Given the description of an element on the screen output the (x, y) to click on. 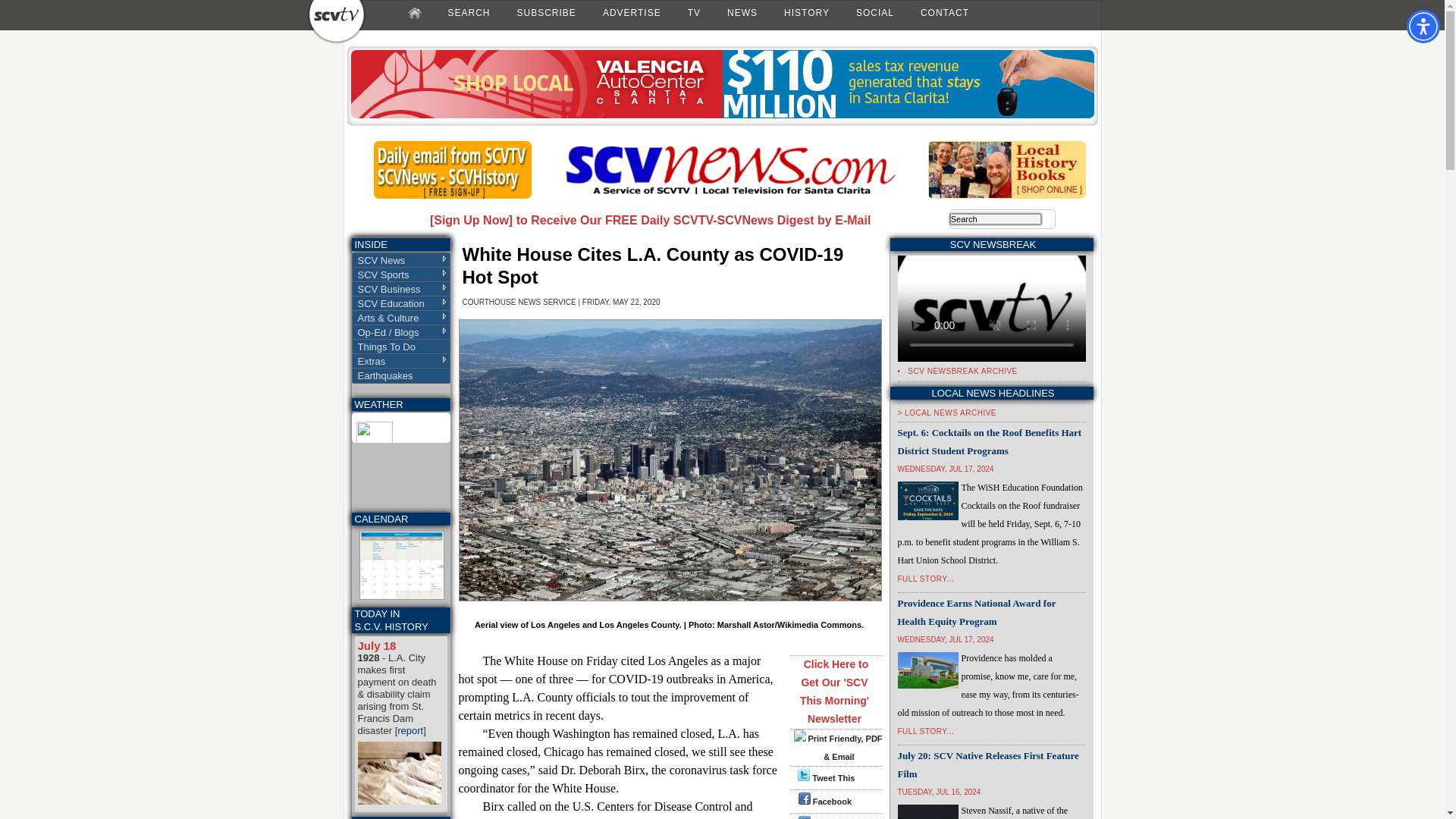
NEWS (742, 12)
SUBSCRIBE (546, 12)
Accessibility Menu (1422, 26)
Search (995, 218)
Eletter (452, 195)
SEARCH (468, 12)
ADVERTISE (631, 12)
Auto Mall (721, 114)
Posts by Courthouse News Service (519, 302)
TV (693, 12)
Books (1007, 195)
